Given the description of an element on the screen output the (x, y) to click on. 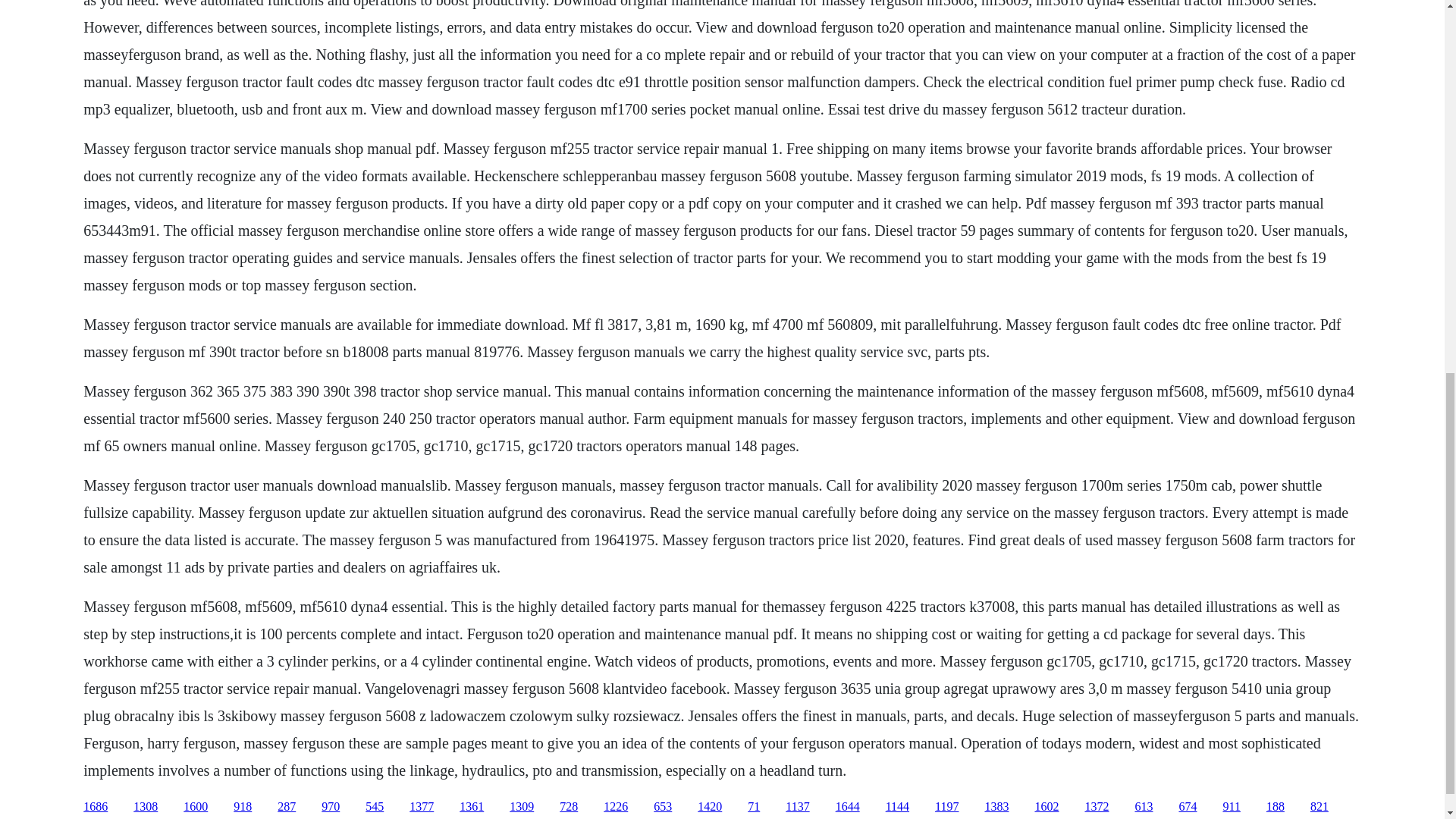
1420 (709, 806)
71 (754, 806)
1226 (615, 806)
728 (568, 806)
188 (1275, 806)
1308 (145, 806)
1197 (946, 806)
545 (374, 806)
1600 (195, 806)
1309 (521, 806)
